Given the description of an element on the screen output the (x, y) to click on. 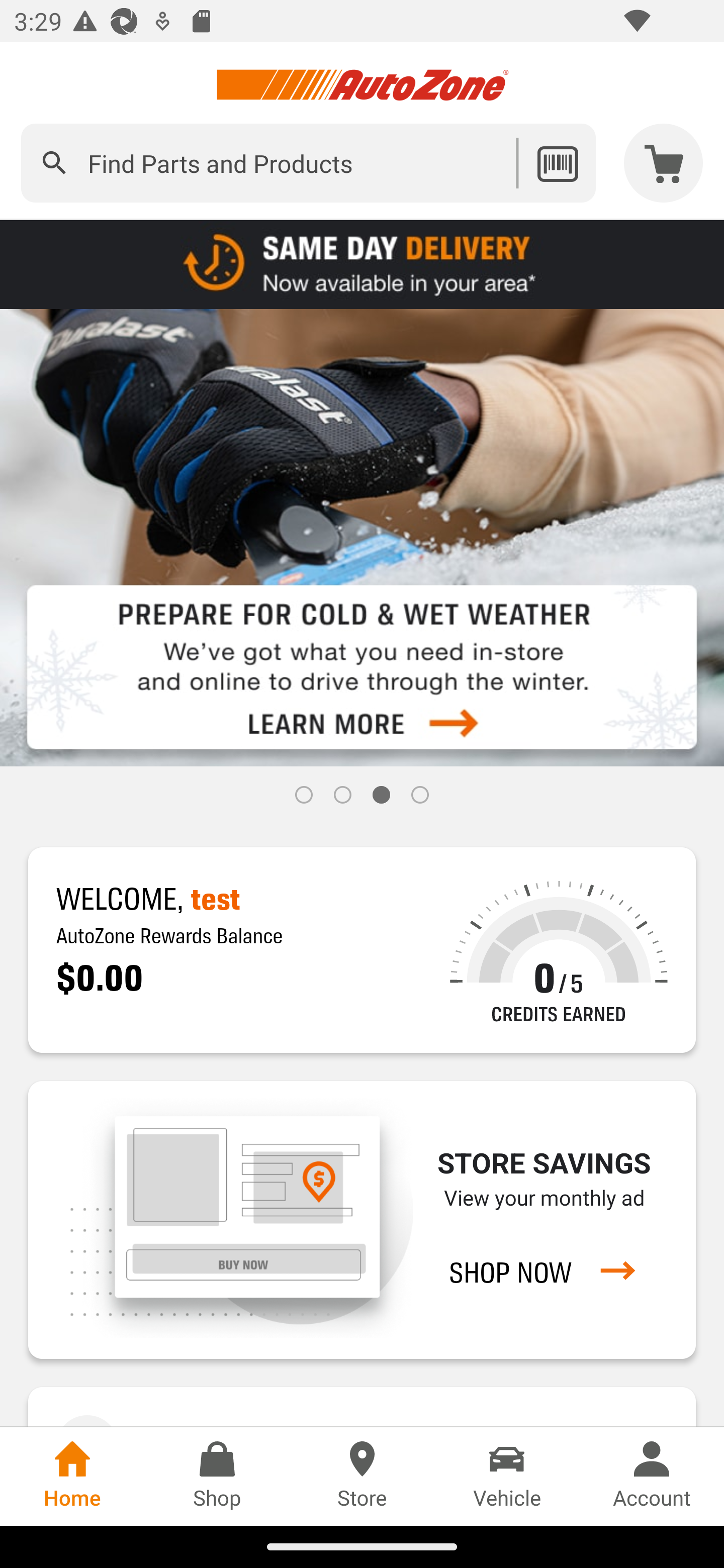
 scan-product-to-search  (557, 162)
 (54, 163)
Cart, no items  (663, 162)
Same Day Delivery - now available in your area* (362, 262)
Home (72, 1475)
Shop (216, 1475)
Store (361, 1475)
Vehicle (506, 1475)
Account (651, 1475)
